Given the description of an element on the screen output the (x, y) to click on. 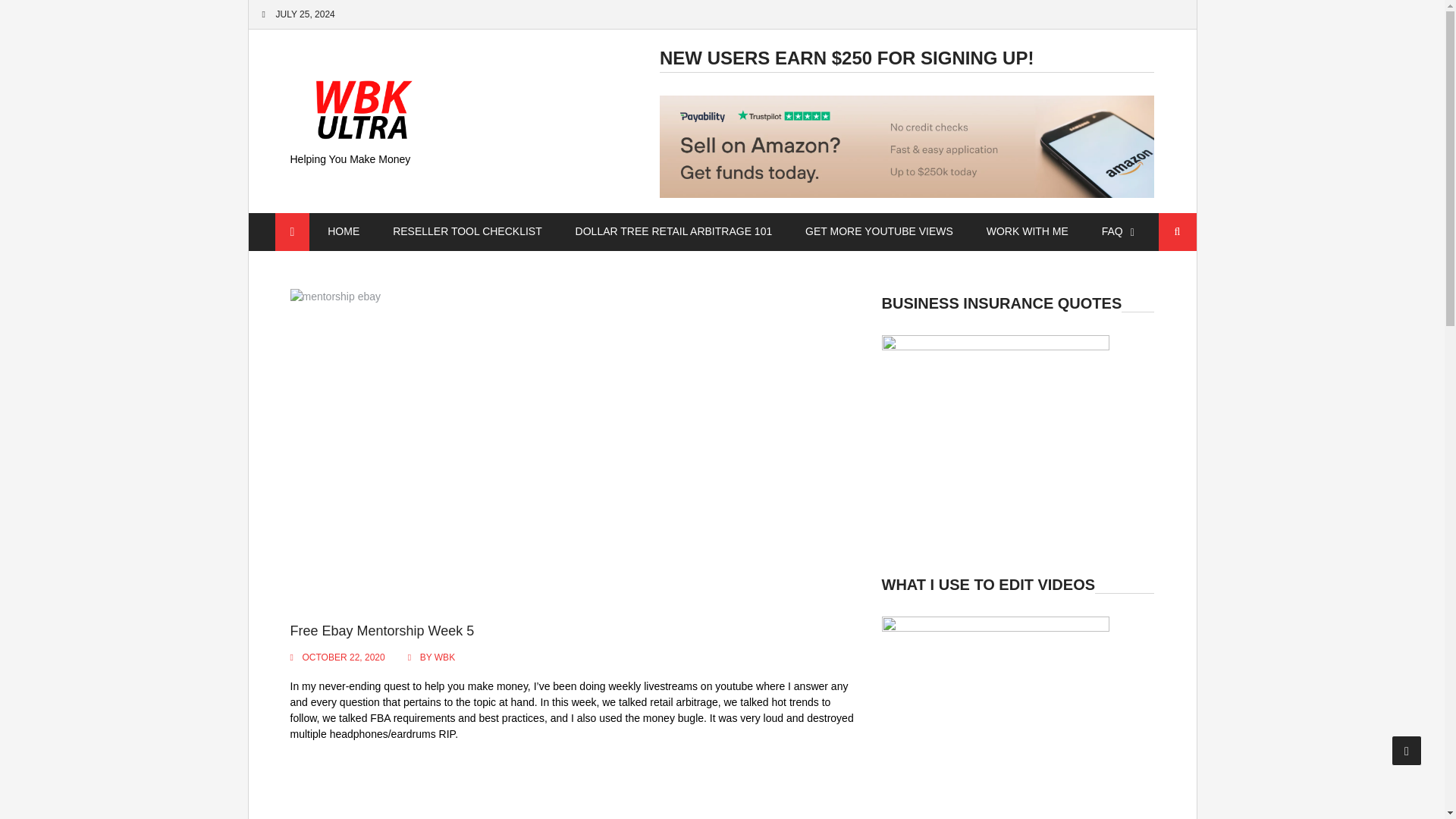
Search (1177, 231)
Go to Top (1406, 750)
HOME (343, 231)
FAQ (1112, 231)
RESELLER TOOL CHECKLIST (467, 231)
Search (1177, 231)
Search (1177, 231)
WBK (443, 656)
WORK WITH ME (1027, 231)
GET MORE YOUTUBE VIEWS (879, 231)
DOLLAR TREE RETAIL ARBITRAGE 101 (673, 231)
OCTOBER 22, 2020 (342, 656)
